Given the description of an element on the screen output the (x, y) to click on. 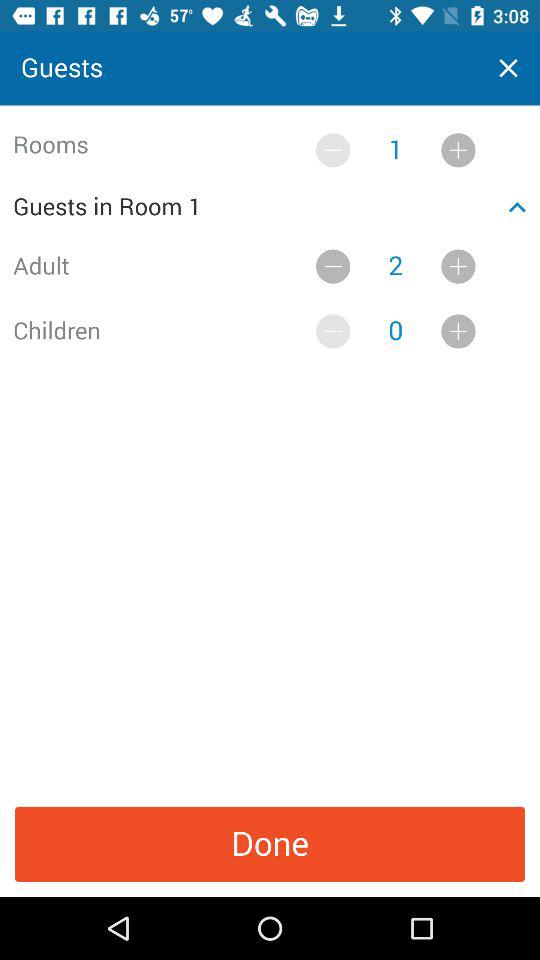
close out screen (508, 67)
